Given the description of an element on the screen output the (x, y) to click on. 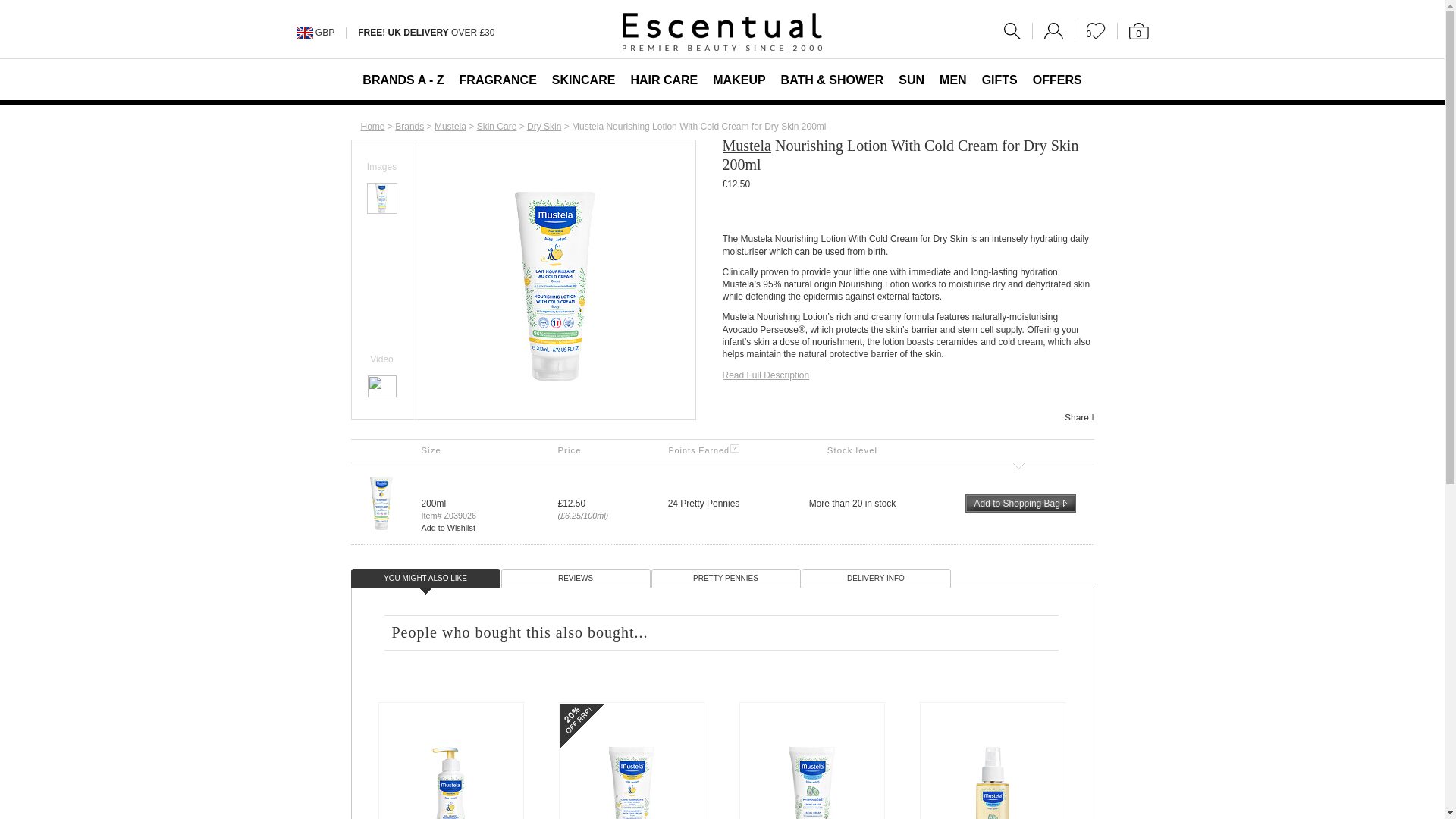
Mustela Nourishing Cream With Cold Cream 40ml (631, 782)
Add to Shopping Bag (1019, 503)
Go to Home Page (373, 126)
0 (1133, 30)
Click here to find out more about Pretty Pennies (703, 450)
Brands A - Z (408, 126)
0 (1095, 30)
Mustela Nourishing Lotion With Cold Cream for Dry Skin 200ml (381, 189)
GBP (324, 32)
BRANDS A - Z (403, 78)
Escentual (722, 31)
